Given the description of an element on the screen output the (x, y) to click on. 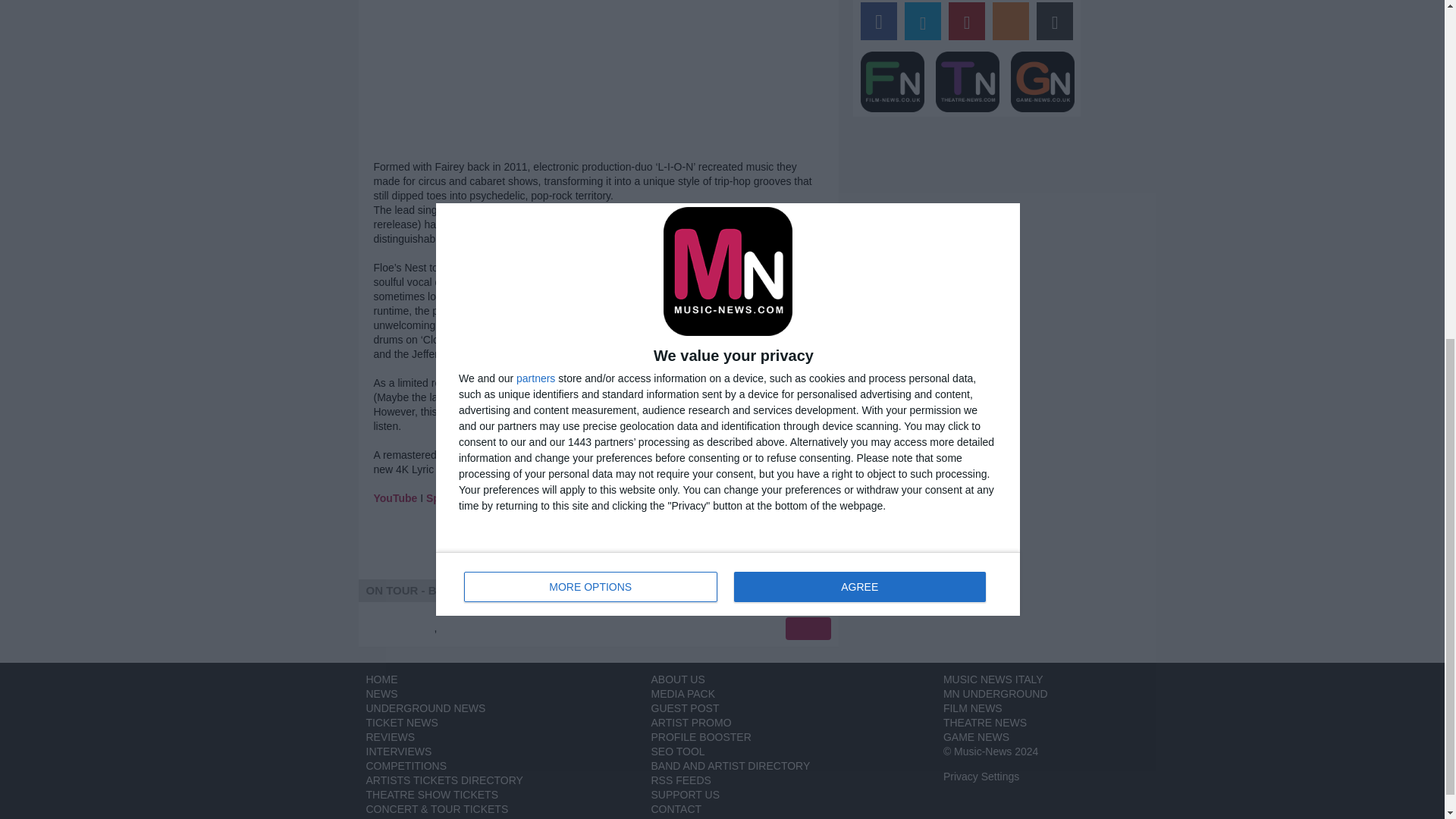
AGREE (859, 6)
MORE OPTIONS (727, 12)
YouTube video player (590, 6)
